Given the description of an element on the screen output the (x, y) to click on. 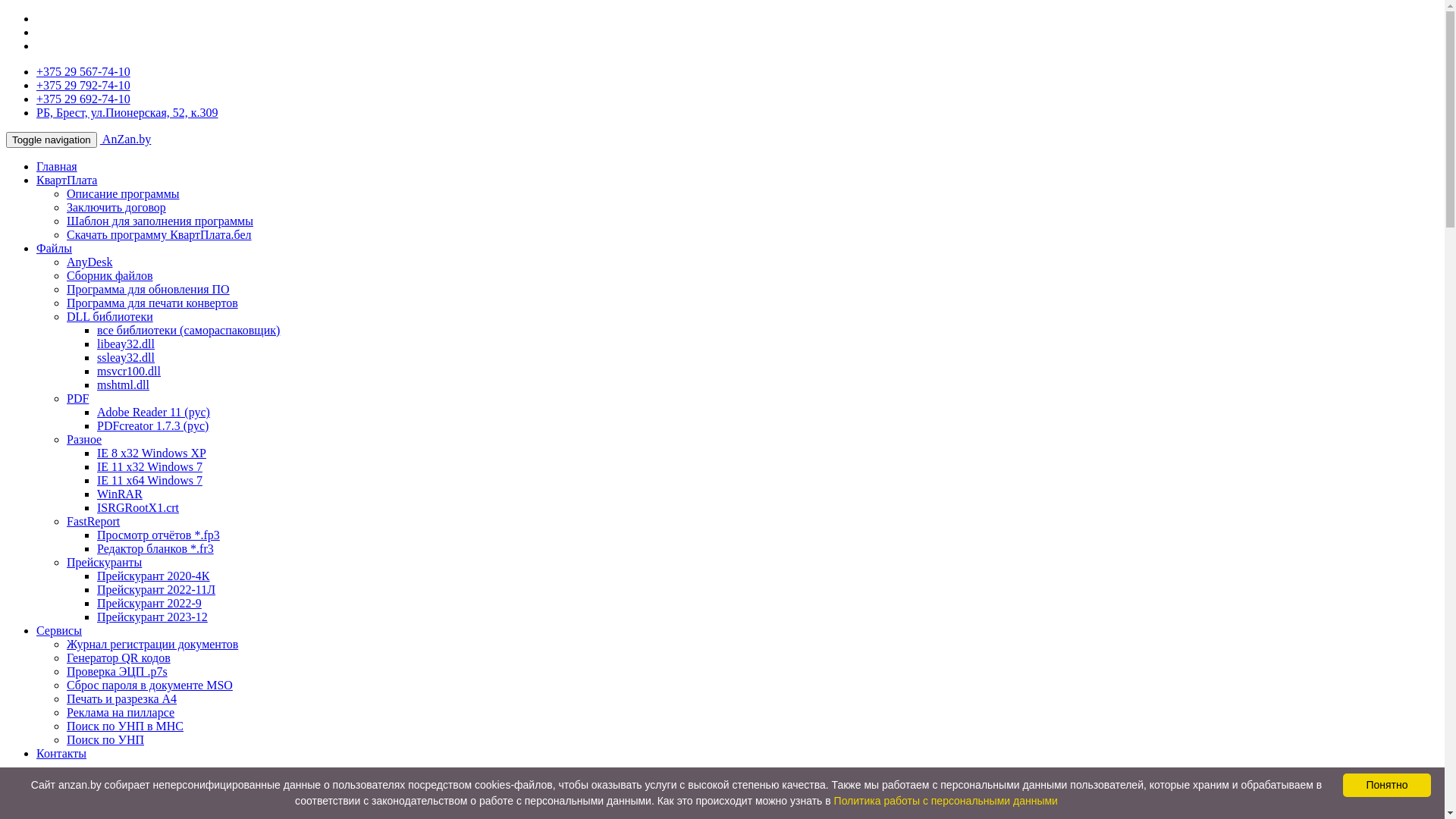
ssleay32.dll Element type: text (125, 357)
libeay32.dll Element type: text (125, 343)
+375 29 692-74-10 Element type: text (83, 98)
IE 8 x32 Windows XP Element type: text (151, 452)
FastReport Element type: text (92, 520)
IE 11 x64 Windows 7 Element type: text (149, 479)
AnyDesk Element type: text (89, 261)
WinRAR Element type: text (119, 493)
ISRGRootX1.crt Element type: text (137, 507)
Toggle navigation Element type: text (51, 139)
mshtml.dll Element type: text (123, 384)
+375 29 567-74-10 Element type: text (83, 71)
msvcr100.dll Element type: text (128, 370)
IE 11 x32 Windows 7 Element type: text (149, 466)
PDF Element type: text (77, 398)
 AnZan.by Element type: text (125, 138)
+375 29 792-74-10 Element type: text (83, 84)
